Given the description of an element on the screen output the (x, y) to click on. 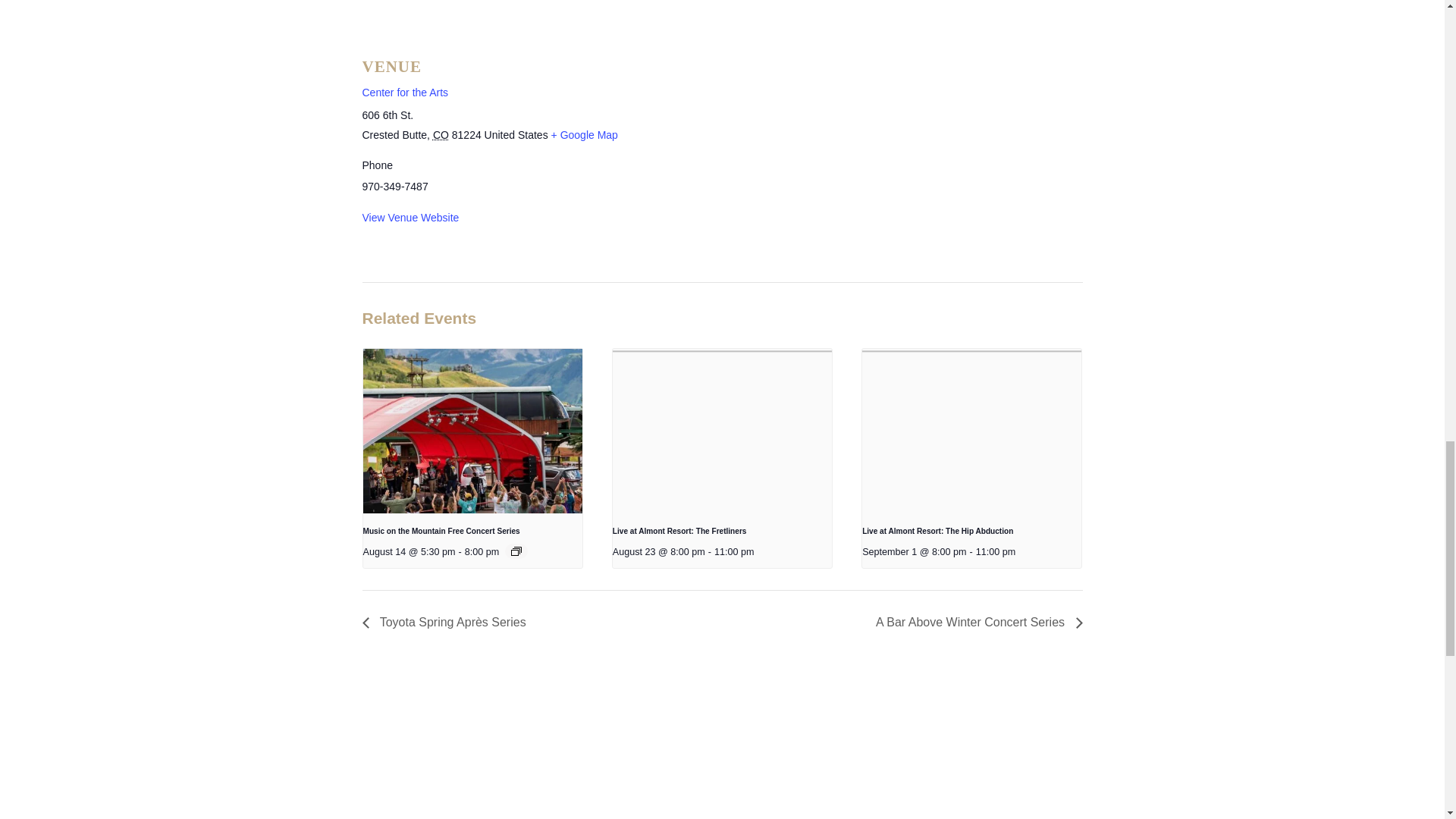
Music on the Mountain Free Concert Series (440, 531)
Center for the Arts (405, 92)
View Venue Website (411, 217)
Colorado (440, 134)
Click to view a Google Map (584, 134)
Event Series (516, 551)
